Given the description of an element on the screen output the (x, y) to click on. 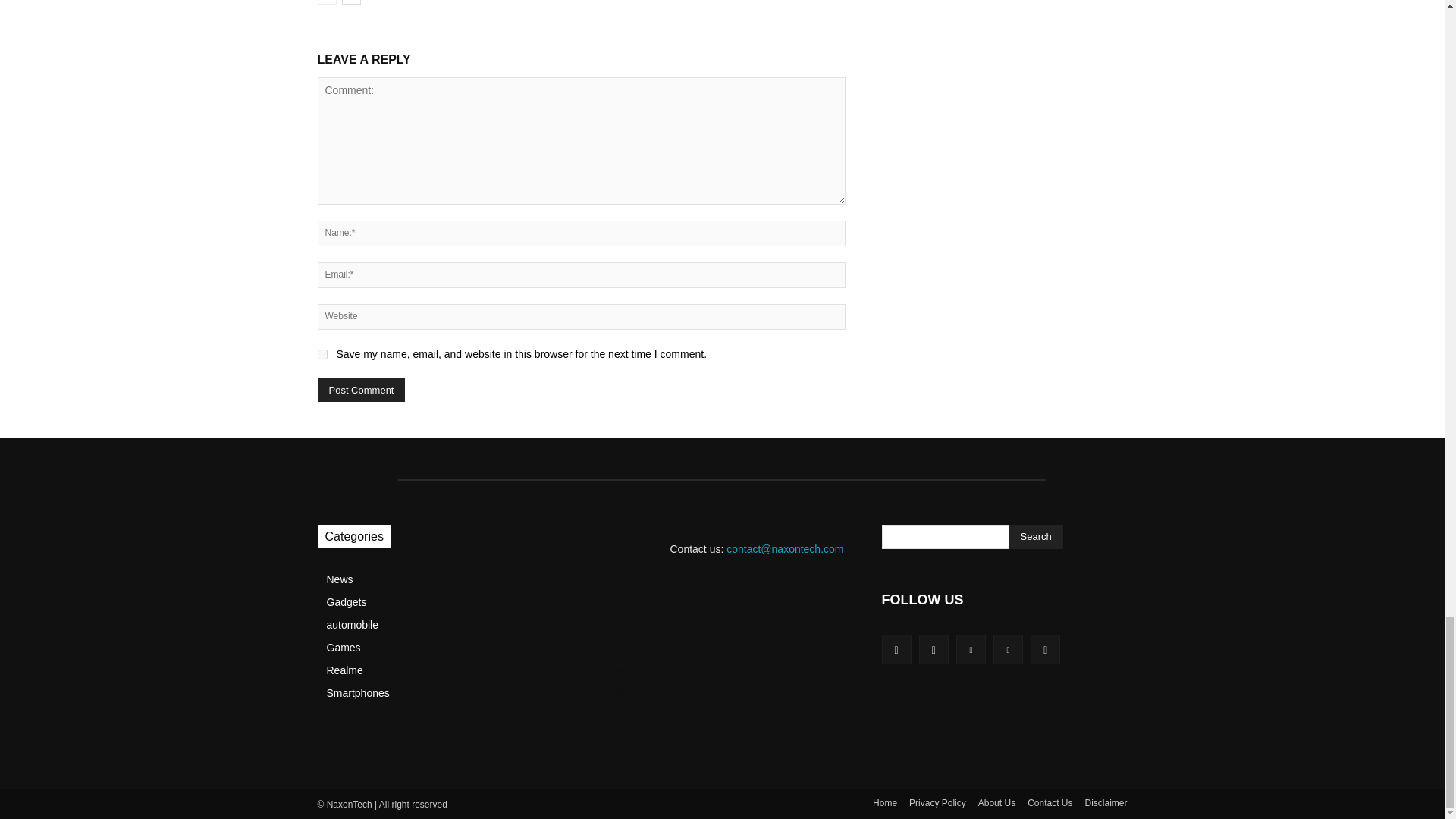
Post Comment (360, 390)
yes (321, 354)
